Given the description of an element on the screen output the (x, y) to click on. 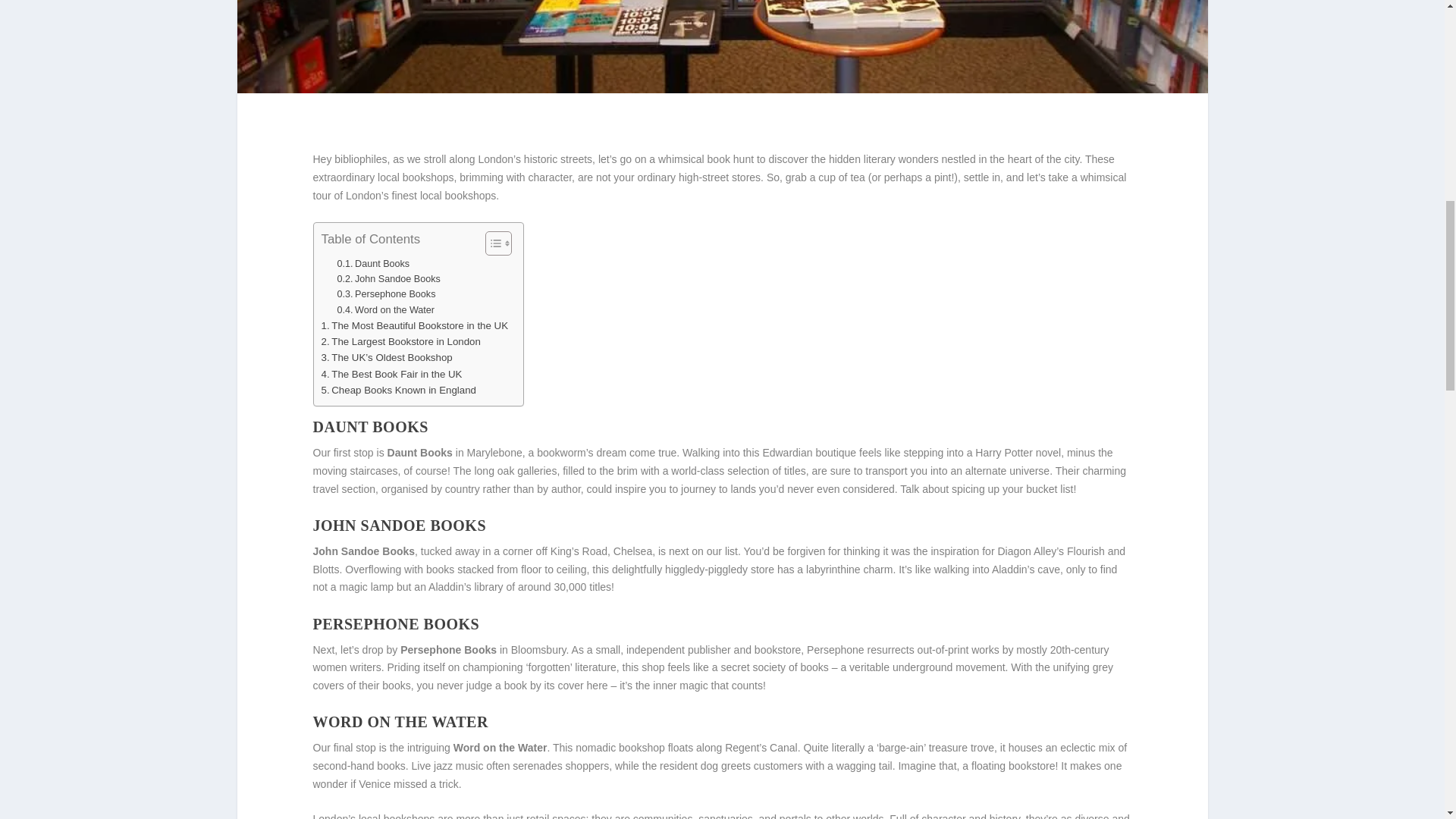
Daunt Books (372, 263)
The Largest Bookstore in London (400, 341)
The Best Book Fair in the UK (392, 374)
John Sandoe Books (387, 278)
Persephone Books (385, 294)
Word on the Water (384, 309)
The Most Beautiful Bookstore in the UK (414, 325)
